Given the description of an element on the screen output the (x, y) to click on. 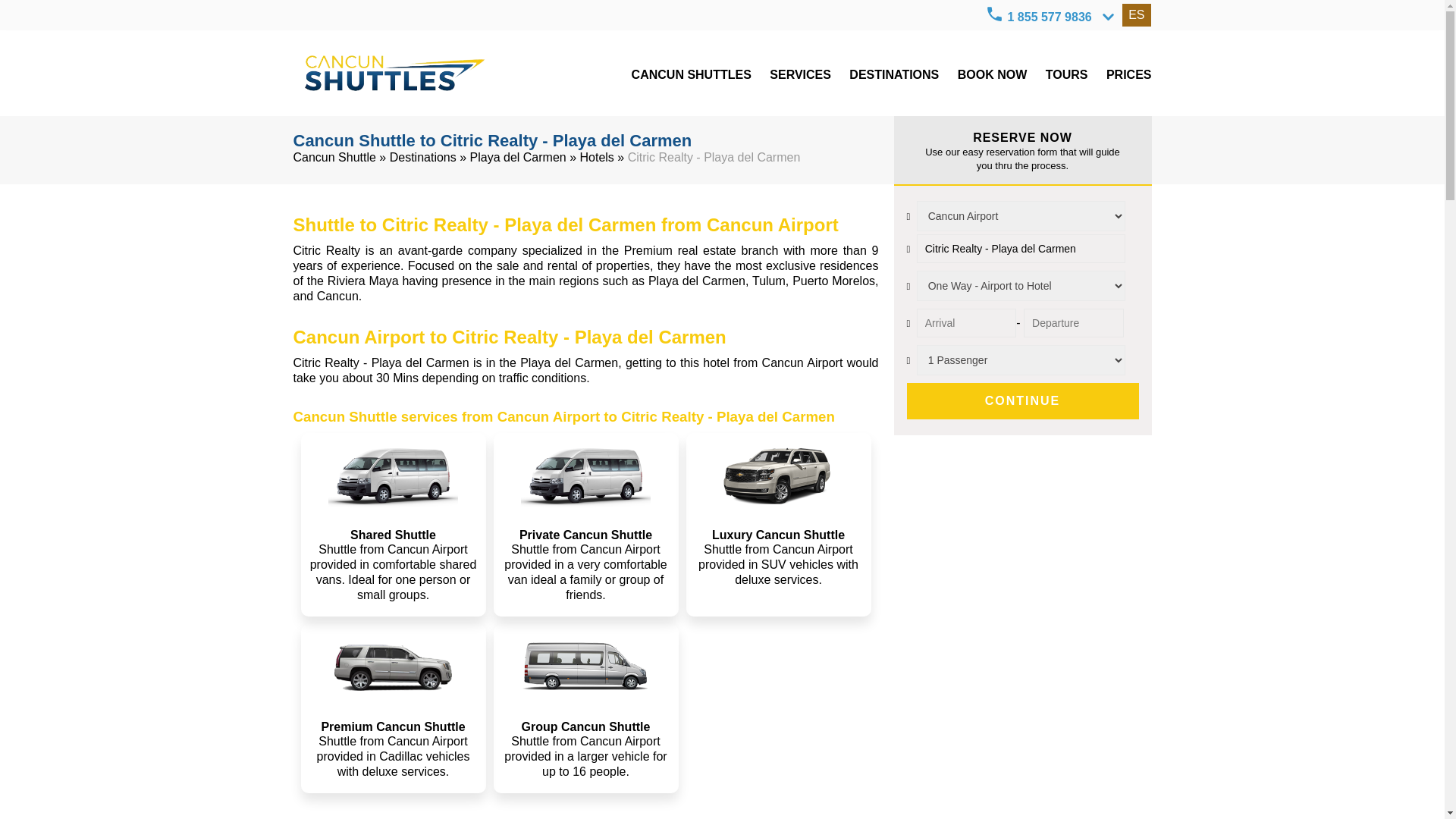
DESTINATIONS (893, 74)
Private Cancun Shuttle (585, 476)
CONTINUE (1022, 401)
TOURS (1066, 74)
Cancun Shuttle from Cancun to Tulum (423, 156)
Call Cancun Shuttles (994, 13)
Hotels (596, 156)
BOOK NOW (992, 74)
Cancun Shuttles prices (1128, 74)
Book your Private Cancun Shuttles (992, 74)
Luxury Cancun Shuttle (777, 476)
Playa del Carmen (518, 156)
Private Cancun Shuttle (392, 476)
CONTINUE (1022, 401)
Cancun to Playa del Carmen Shuttle (596, 156)
